Given the description of an element on the screen output the (x, y) to click on. 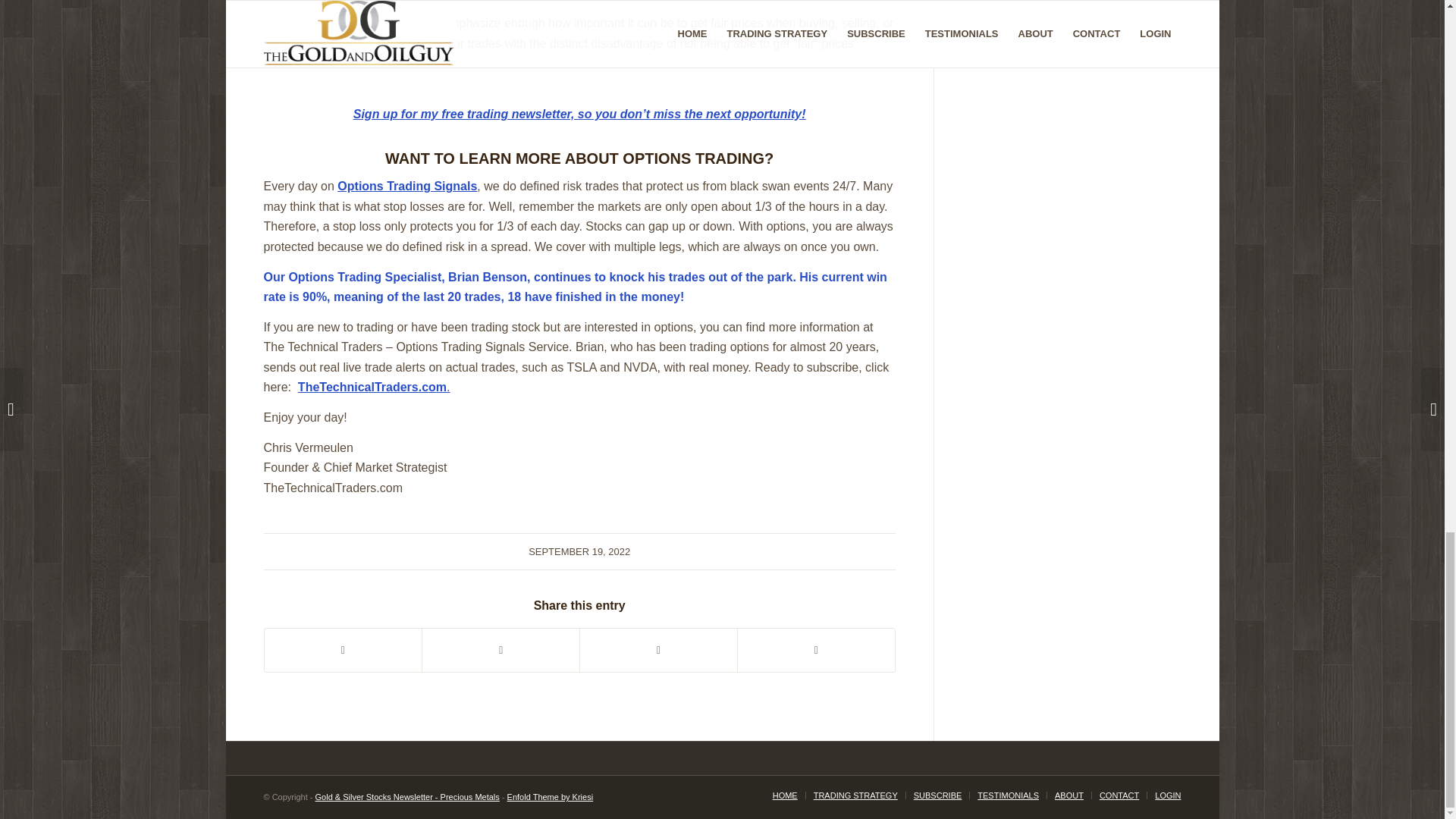
Enfold Theme by Kriesi (550, 796)
HOME (785, 795)
TRADING STRATEGY (855, 795)
Options Trading Signals (407, 185)
SUBSCRIBE (938, 795)
TheTechnicalTraders.com (372, 386)
